Given the description of an element on the screen output the (x, y) to click on. 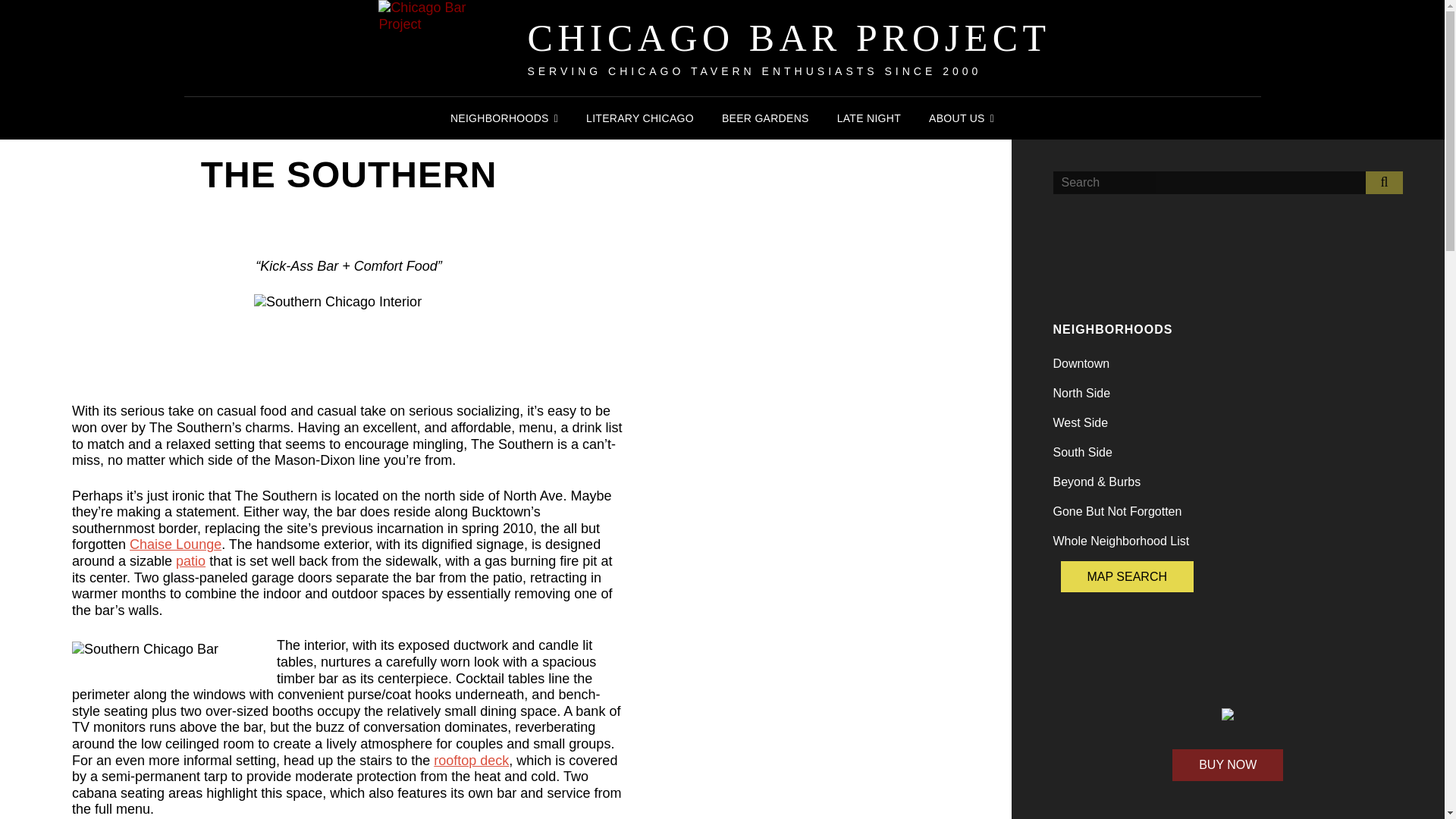
LITERARY CHICAGO (639, 118)
CHICAGO BAR PROJECT (788, 37)
rooftop deck (470, 760)
Downtown (1080, 363)
ABOUT US (961, 118)
patio (190, 560)
South Side (1082, 451)
West Side (1080, 422)
Gone But Not Forgotten (1116, 511)
BEER GARDENS (765, 118)
Chaise Lounge (175, 544)
NEIGHBORHOODS (504, 118)
North Side (1080, 392)
LATE NIGHT (868, 118)
Search (1384, 182)
